Given the description of an element on the screen output the (x, y) to click on. 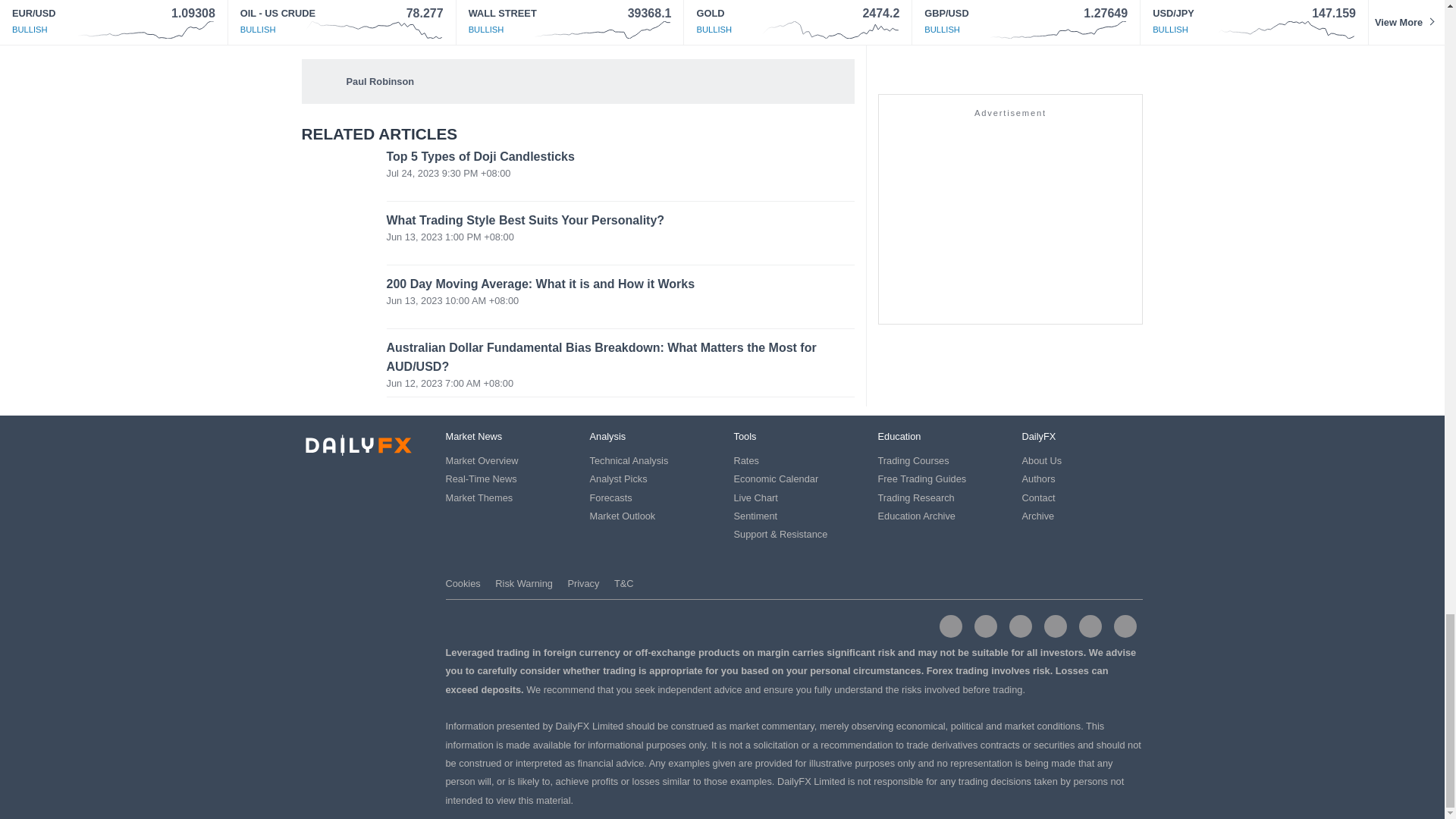
Market Themes (479, 497)
Tools (745, 436)
Real-Time News (480, 478)
Technical Analysis (628, 460)
Market News (473, 436)
Analyst Picks (618, 478)
Forecasts (610, 497)
Rates (745, 460)
Market Overview (481, 460)
Market Outlook (622, 515)
